Given the description of an element on the screen output the (x, y) to click on. 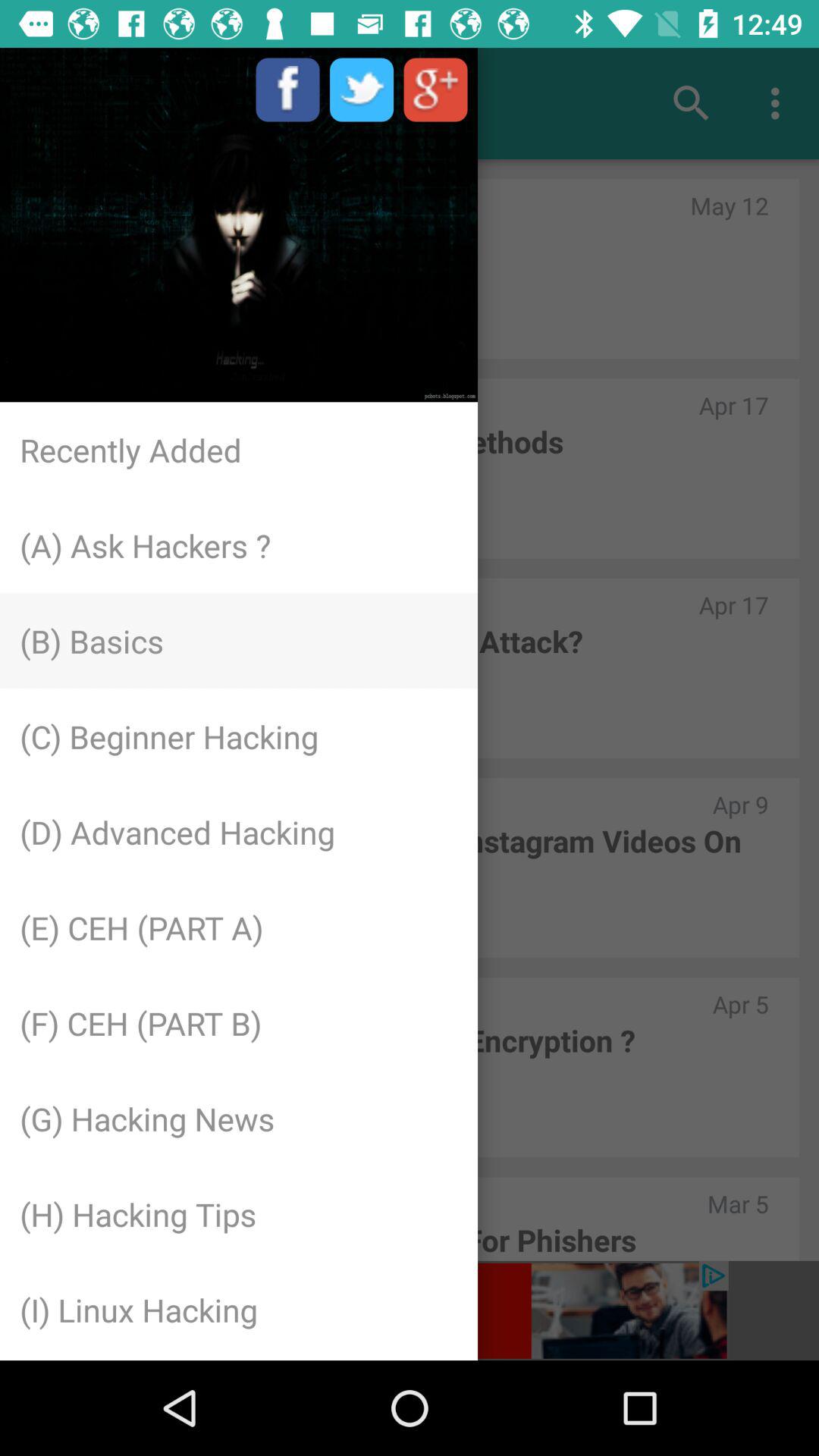
click the facebook icon (288, 90)
select on the image between f and g (361, 90)
